Given the description of an element on the screen output the (x, y) to click on. 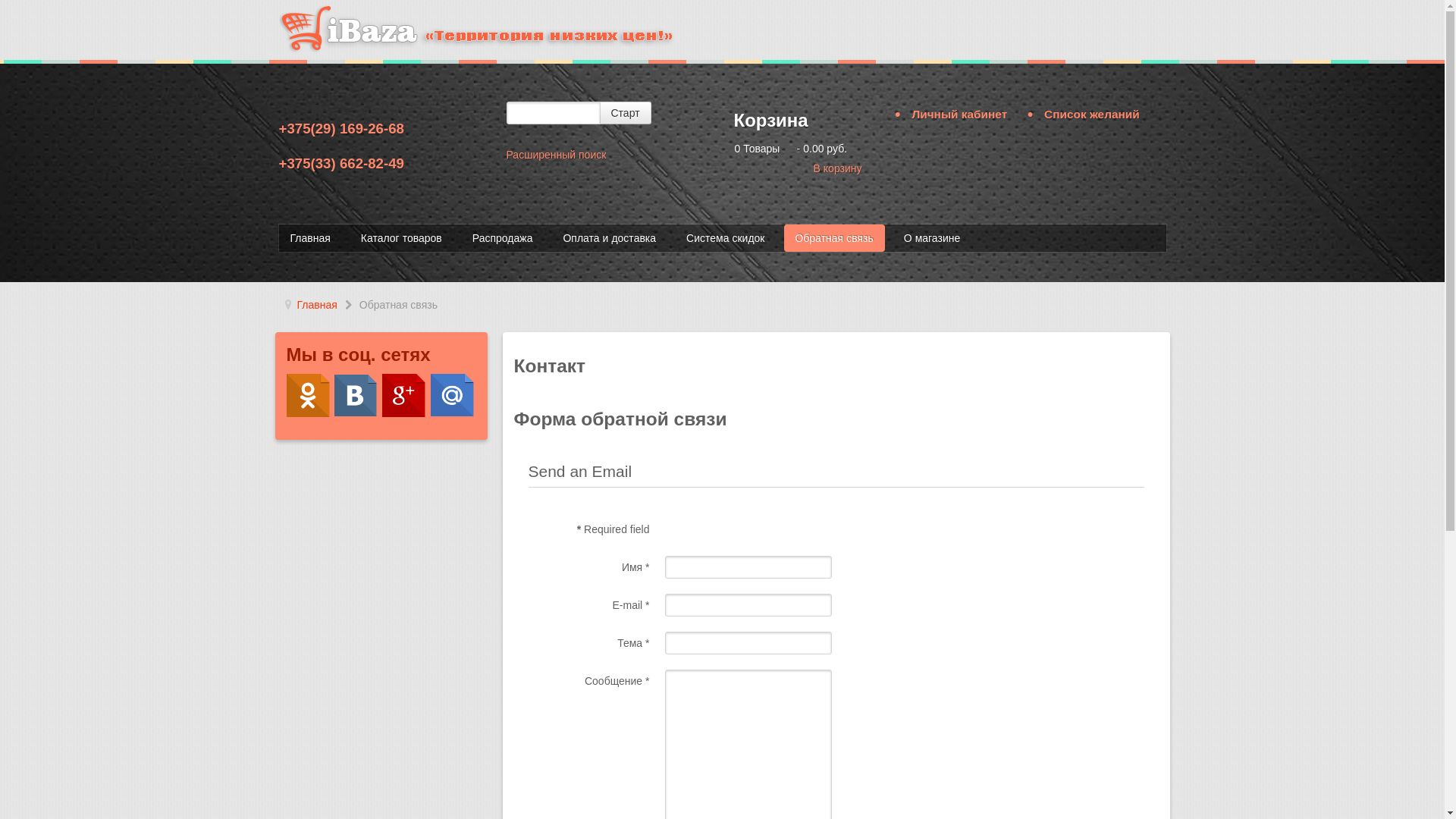
+375(33) 662-82-49 Element type: text (341, 163)
+375(29) 169-26-68 Element type: text (341, 128)
   Element type: text (406, 394)
